Given the description of an element on the screen output the (x, y) to click on. 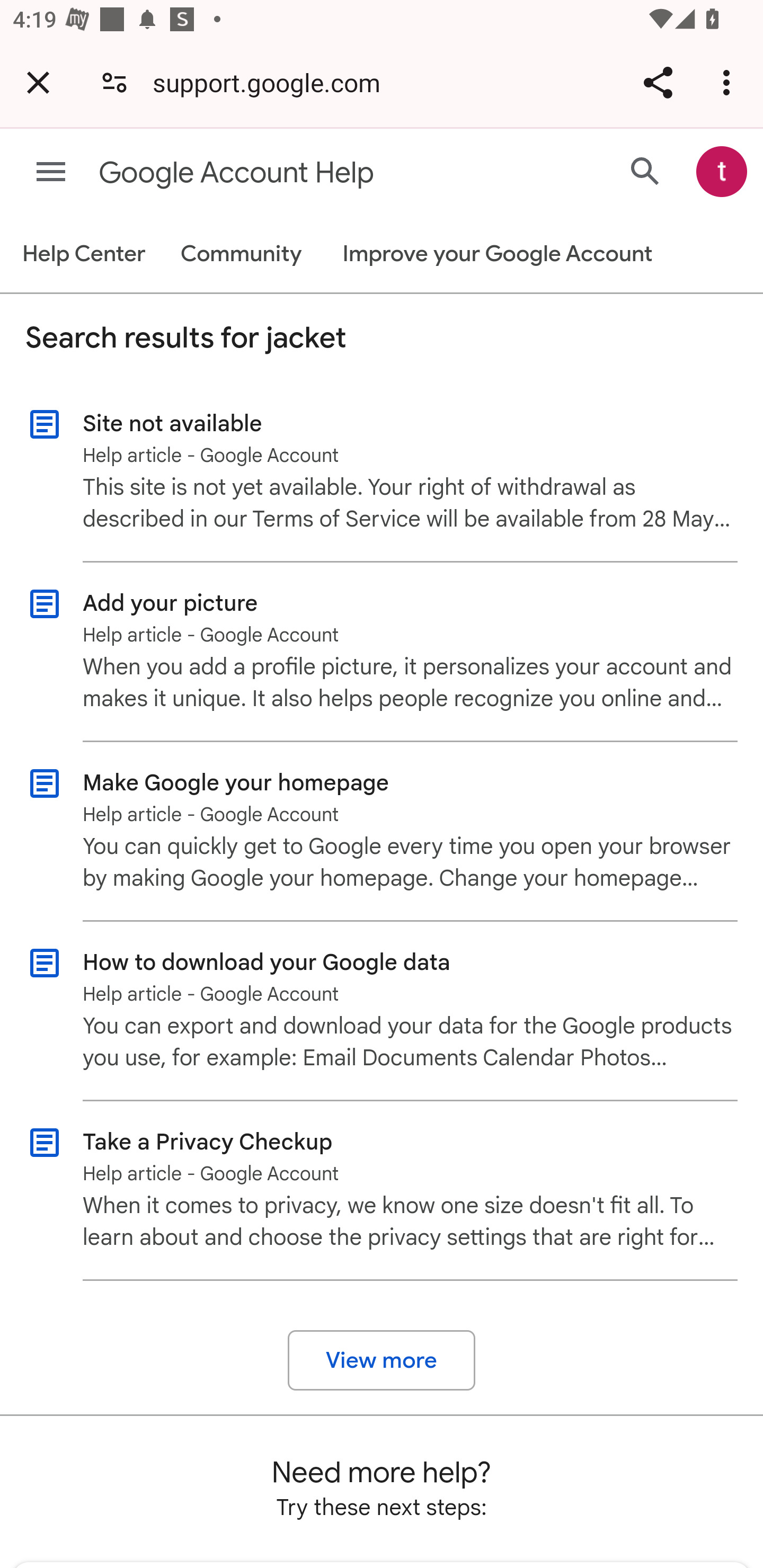
Close tab (38, 82)
Share (657, 82)
Customize and control Google Chrome (729, 82)
Connection is secure (114, 81)
support.google.com (272, 81)
Main menu (50, 171)
Google Account Help (311, 173)
Search Help Center (645, 171)
Help Center (83, 253)
Community (240, 253)
Improve your Google Account (497, 253)
View more (381, 1360)
